Given the description of an element on the screen output the (x, y) to click on. 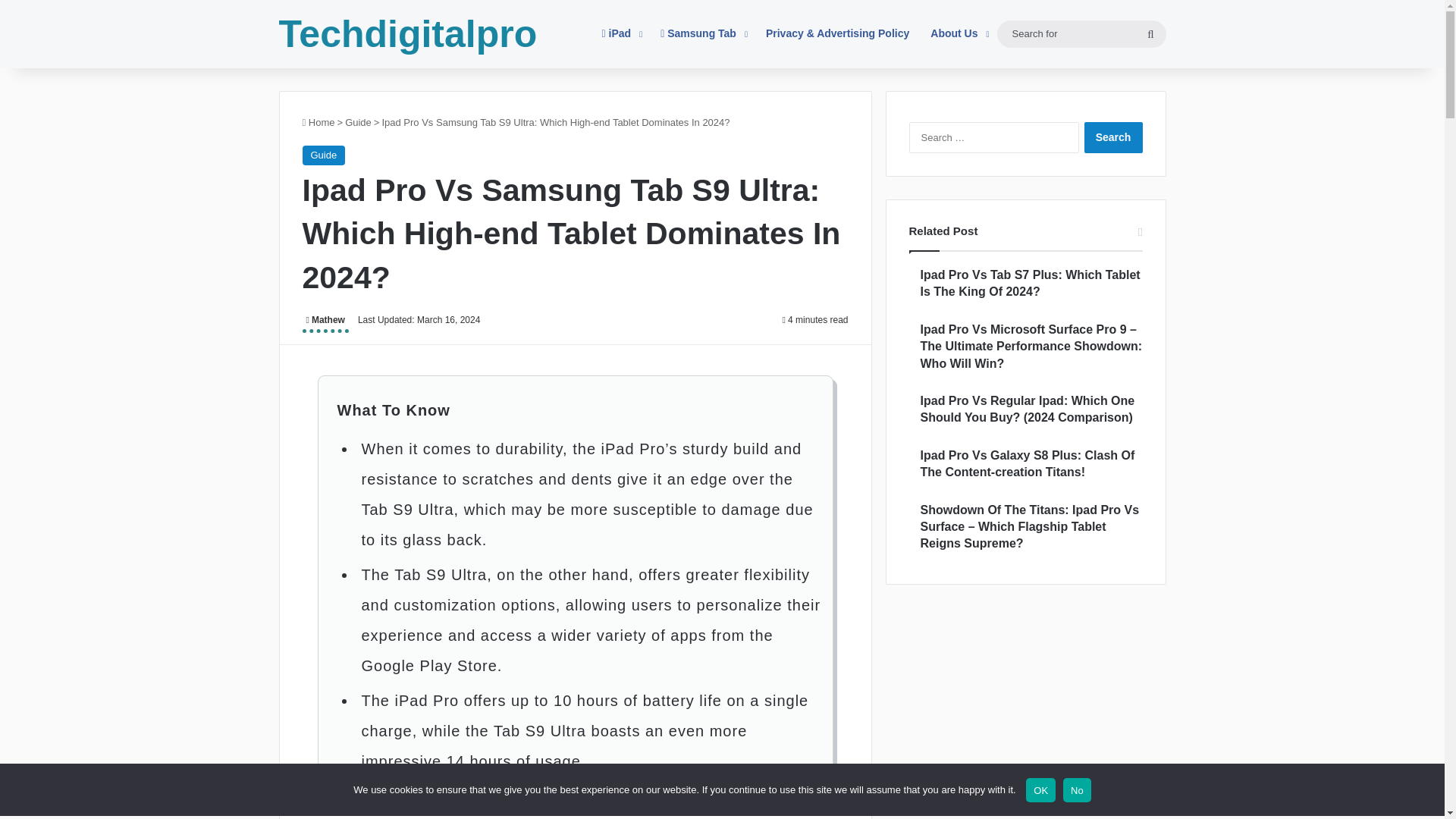
Search for (1150, 32)
Home (317, 122)
Search for (1080, 32)
Techdigitalpro (408, 34)
Search (1113, 137)
Guide (323, 155)
Guide (358, 122)
Mathew (324, 321)
Techdigitalpro (408, 34)
Mathew (324, 321)
